Given the description of an element on the screen output the (x, y) to click on. 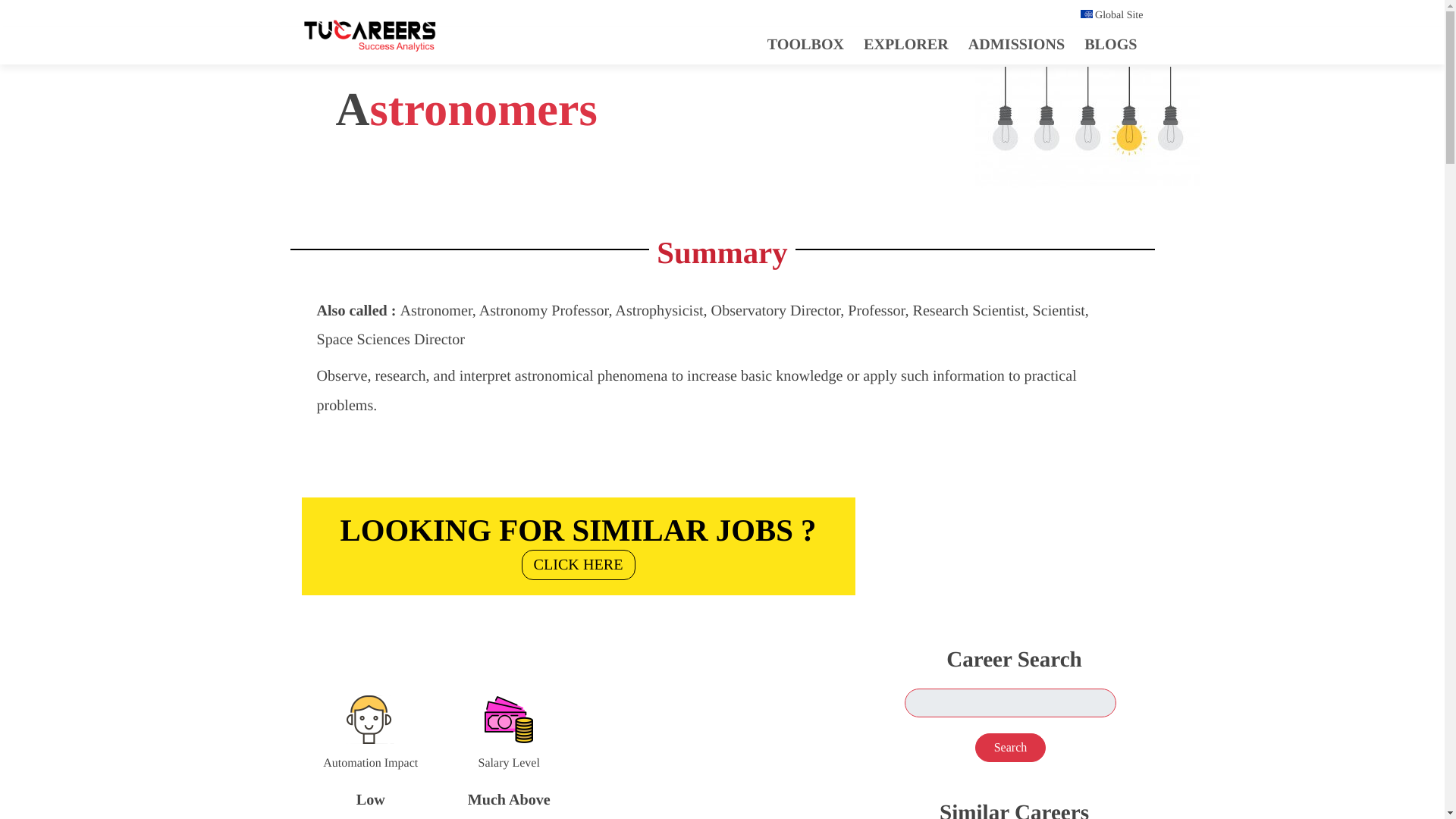
TOOLBOX (805, 44)
Embedded video for 19-2011.00-Astronomers (1009, 534)
Search (1010, 747)
ADMISSIONS (1016, 44)
Skip to main content (578, 542)
Home (578, 542)
BLOGS (906, 44)
